Given the description of an element on the screen output the (x, y) to click on. 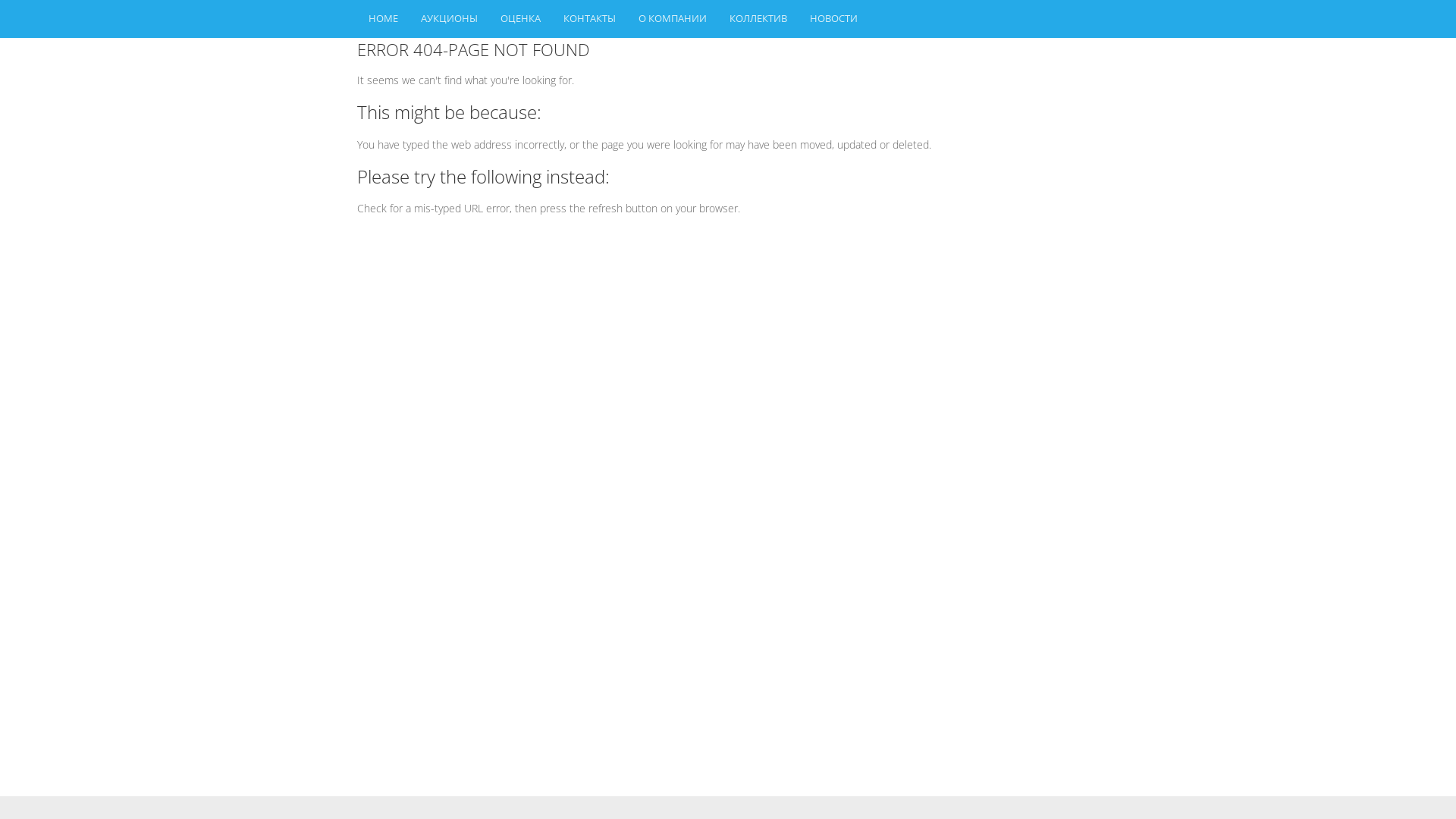
HOME Element type: text (383, 18)
